Given the description of an element on the screen output the (x, y) to click on. 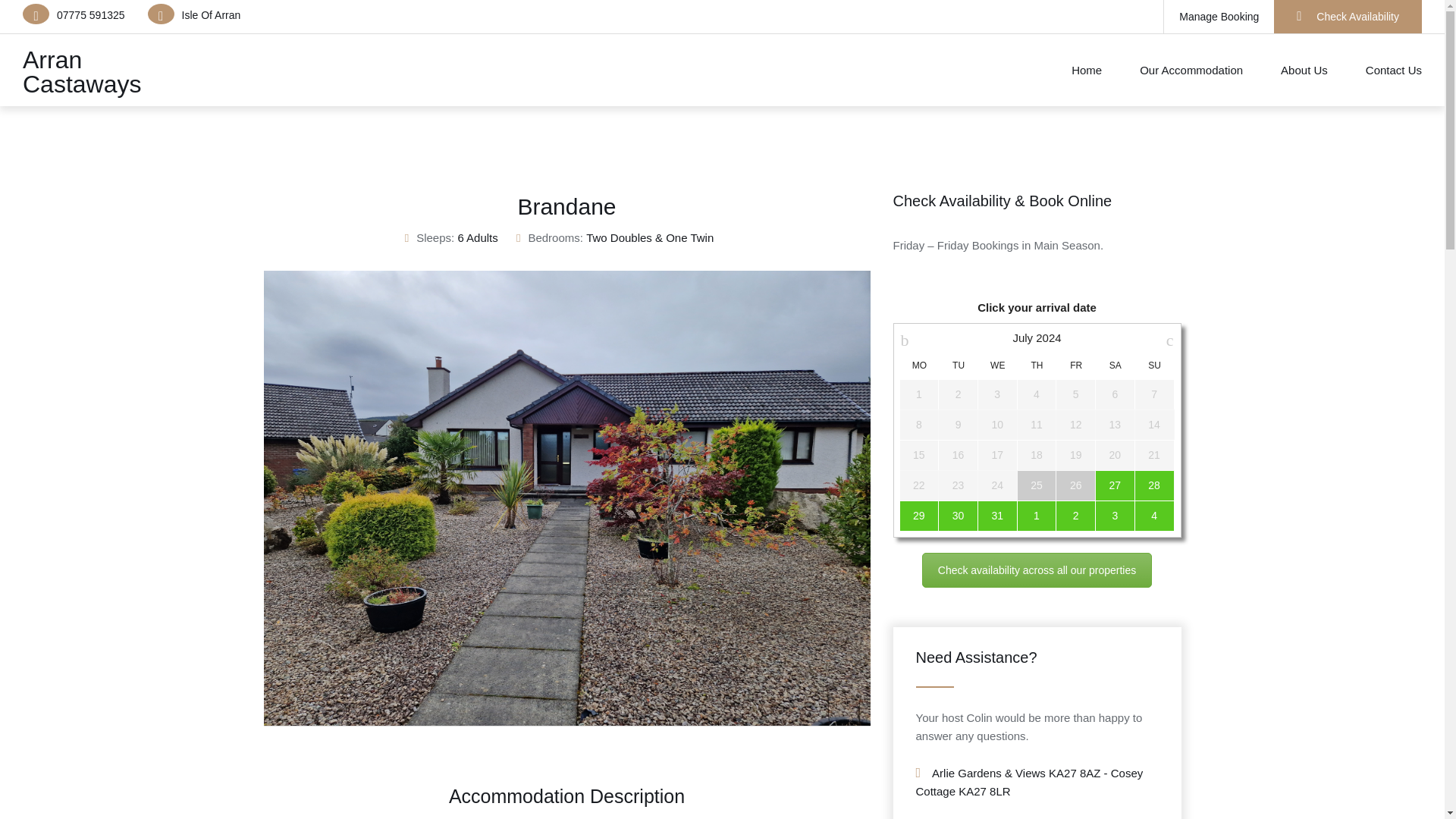
Check Availability (1348, 16)
Arran Castaways (82, 71)
Sunday (1154, 365)
1 (1037, 515)
Manage Booking (1218, 16)
Home (1086, 70)
28 (1154, 485)
2 (1075, 515)
30 (957, 515)
27 (1115, 485)
Monday (919, 365)
Previous (244, 502)
About Us (1304, 70)
Friday (1075, 365)
Contact Us (1384, 70)
